Given the description of an element on the screen output the (x, y) to click on. 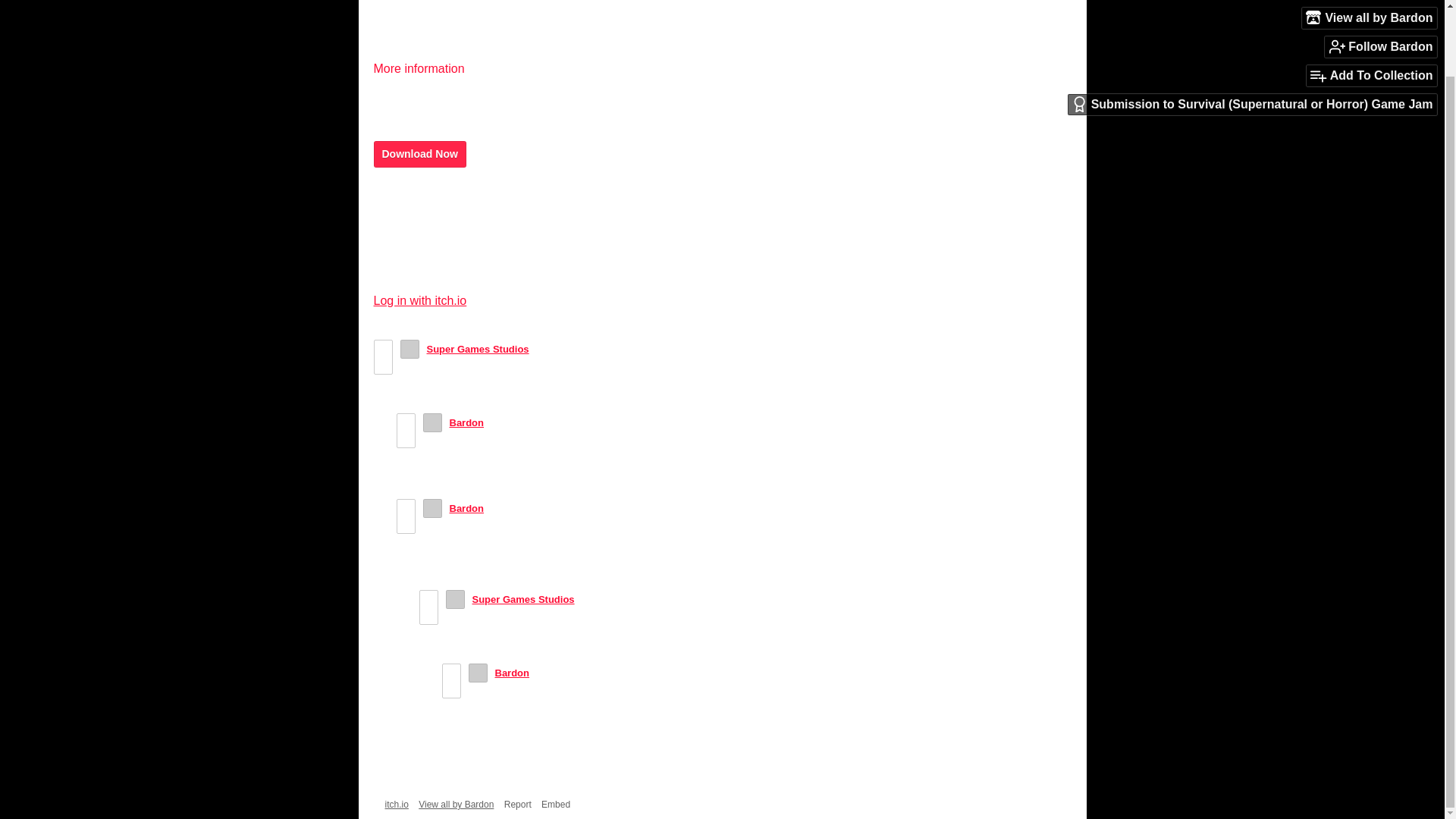
Vote down (382, 365)
Add To Collection (1371, 6)
1 year ago (560, 348)
Vote down (405, 524)
Log in with itch.io (418, 300)
2023-06-15 08:20:06 (514, 422)
Vote up (429, 598)
Vote down (405, 438)
1 year ago (605, 599)
2023-06-23 23:17:33 (514, 508)
